Given the description of an element on the screen output the (x, y) to click on. 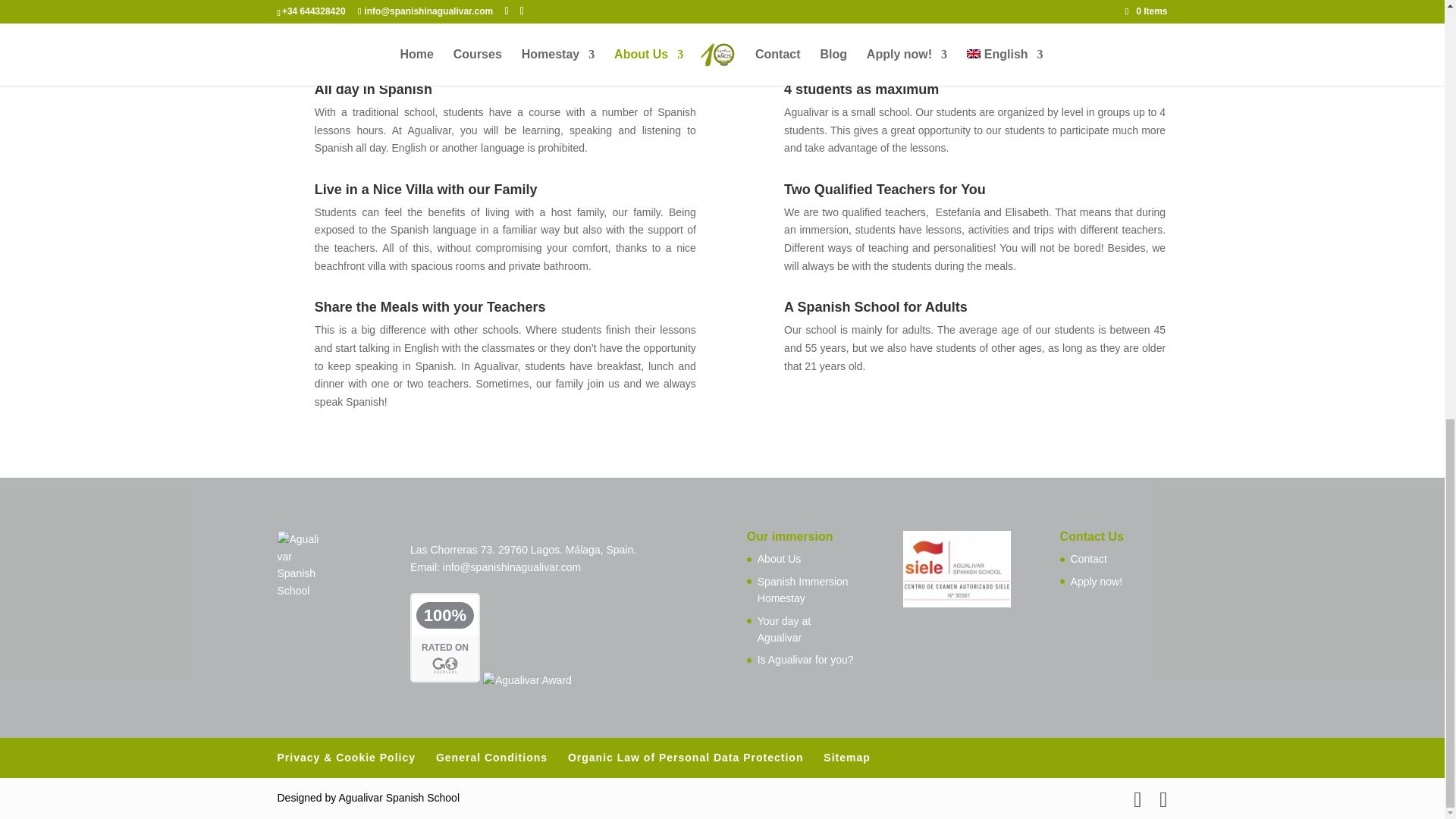
About Us (779, 558)
Is Agualivar for you? (805, 659)
Your day at Agualivar (783, 629)
Contact (1088, 558)
Spanish Immersion Homestay (802, 589)
